Given the description of an element on the screen output the (x, y) to click on. 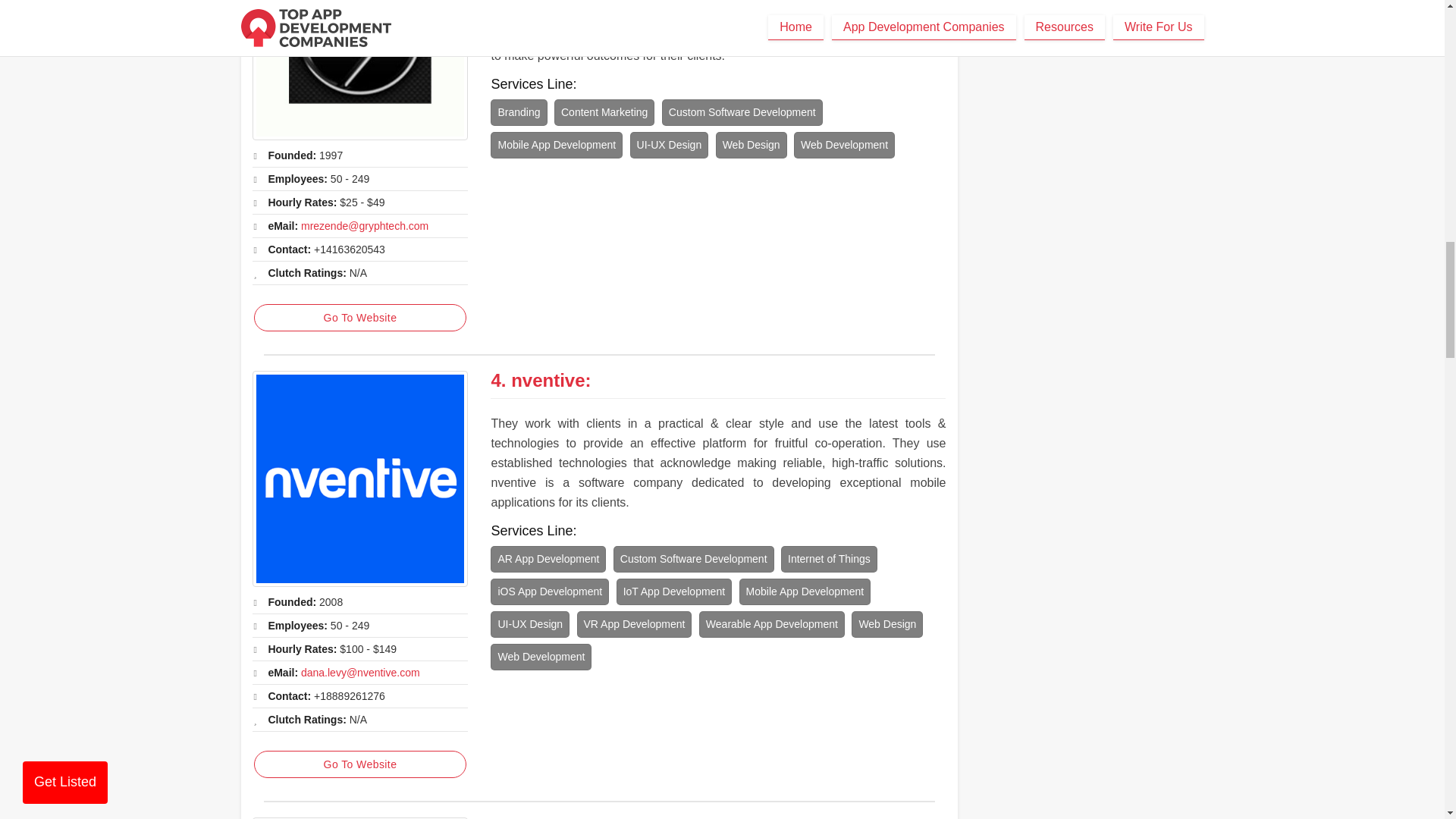
GryphTech (359, 70)
Go To Website (359, 317)
Go To Website (359, 764)
nventive (548, 380)
nventive (359, 479)
